Given the description of an element on the screen output the (x, y) to click on. 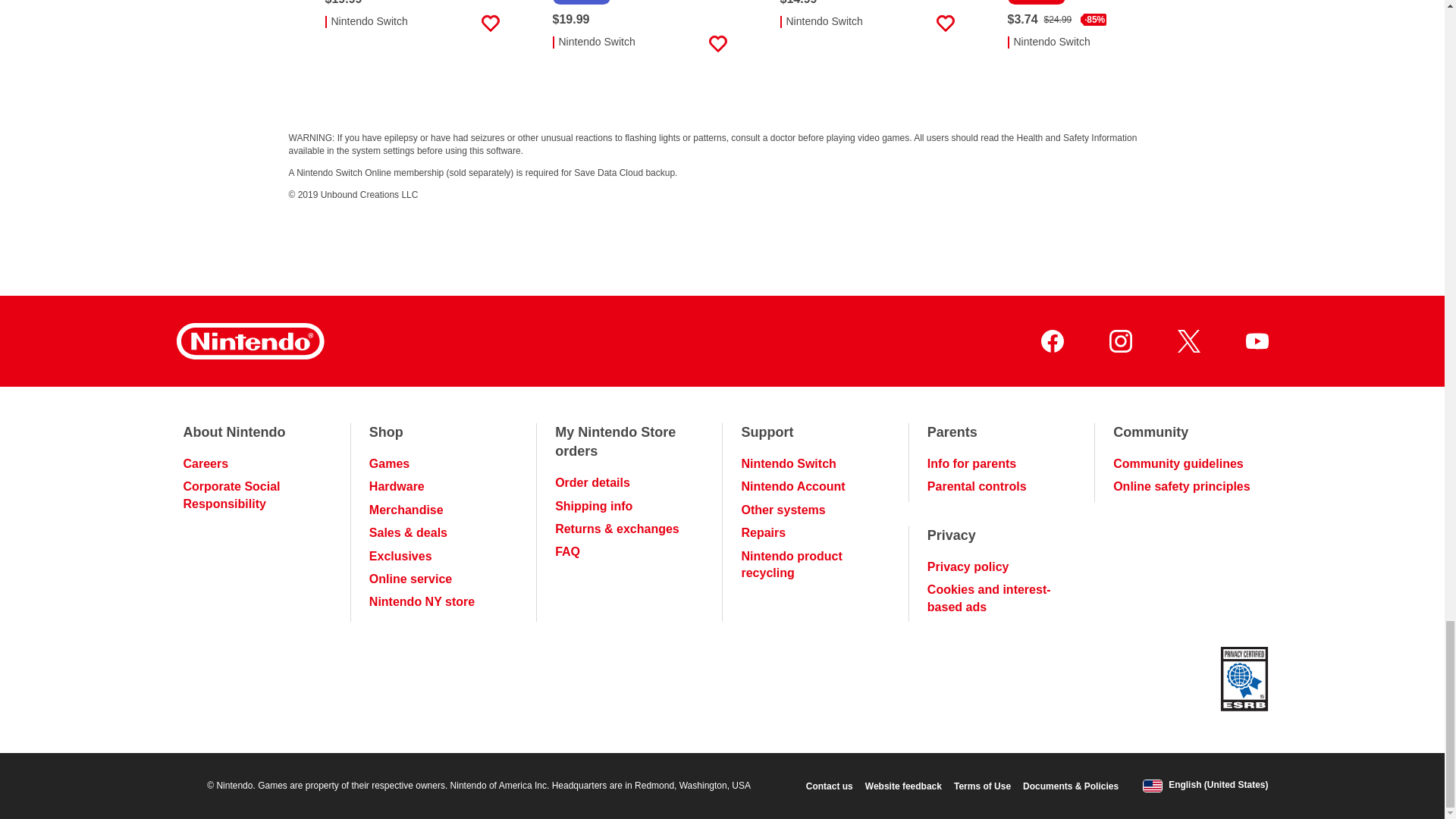
Add to Wish List (944, 23)
Add to Wish List (716, 43)
Nintendo on Instagram (1119, 341)
Nintendo on Facebook (1051, 341)
Nintendo Homepage (249, 340)
Add to Wish List (1172, 43)
Add to Wish List (489, 23)
